Given the description of an element on the screen output the (x, y) to click on. 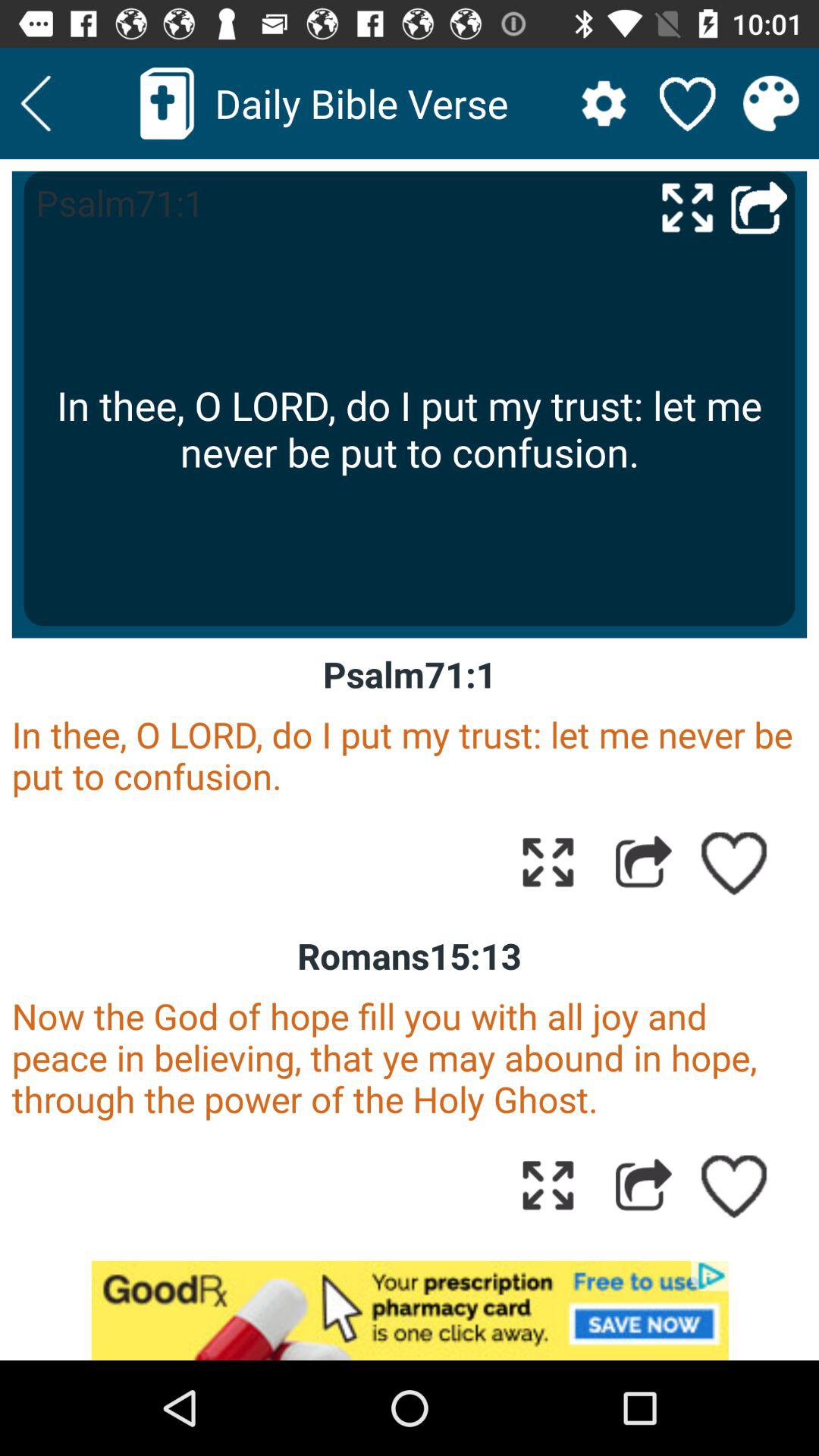
rotate button (548, 1184)
